Given the description of an element on the screen output the (x, y) to click on. 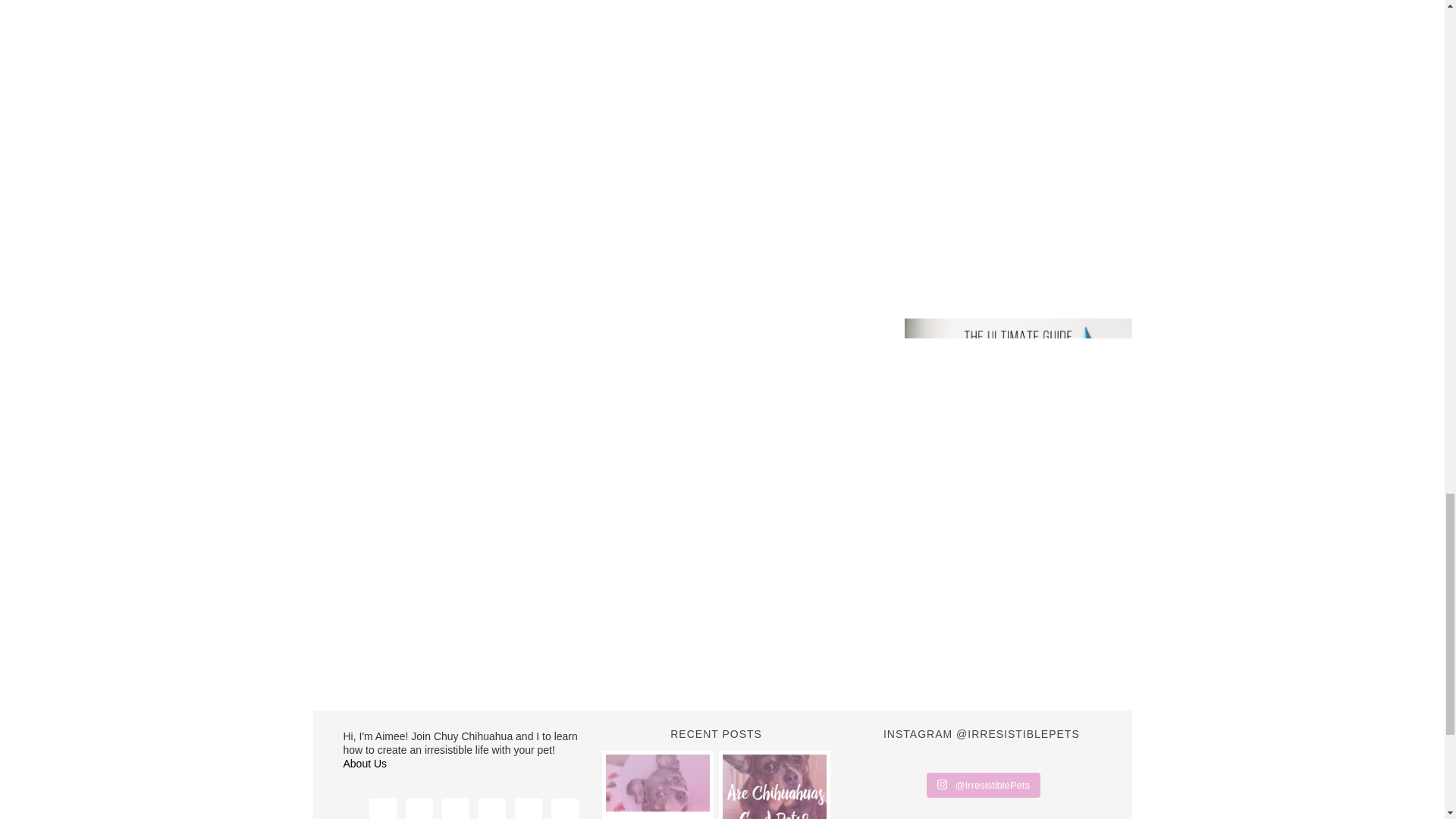
About Us (364, 763)
Are Chihuahuas Good Pets? (773, 786)
My Chihuahua Had a Splenectomy (657, 786)
